Given the description of an element on the screen output the (x, y) to click on. 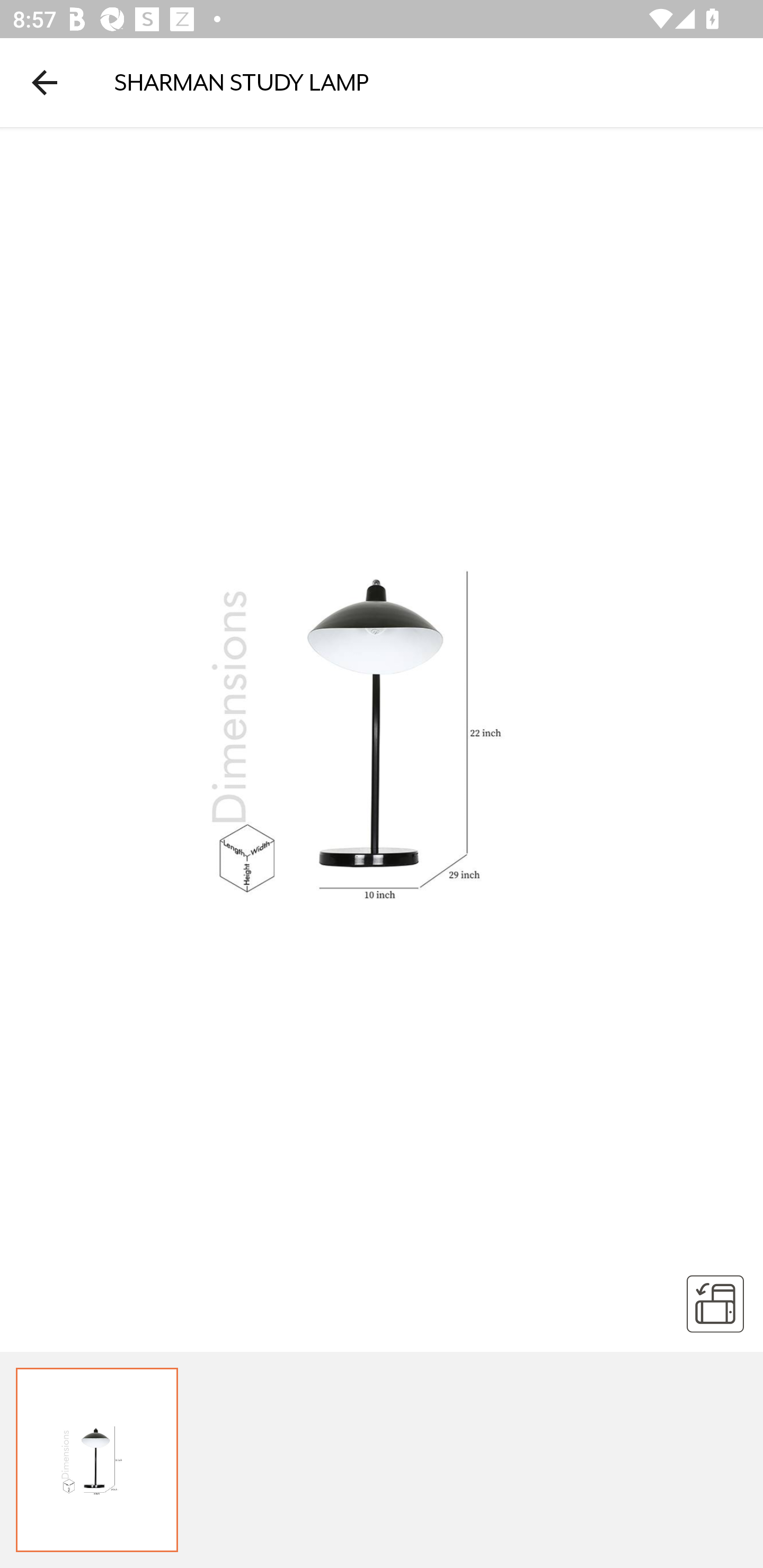
Navigate up (44, 82)
 (715, 1302)
